Given the description of an element on the screen output the (x, y) to click on. 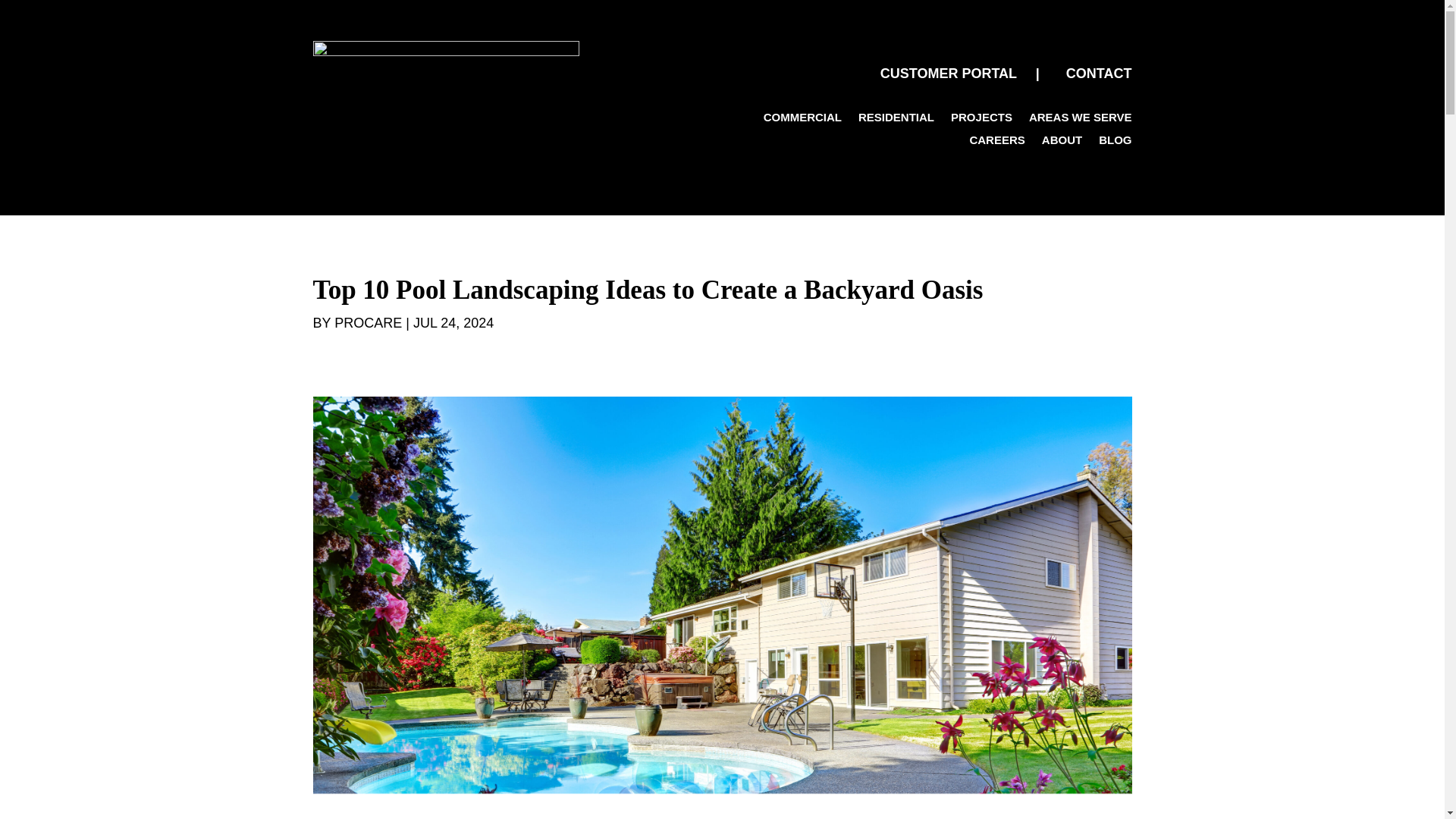
BLOG (1115, 143)
COMMERCIAL (801, 120)
ABOUT (1061, 143)
AREAS WE SERVE (1080, 120)
PROCARE (367, 322)
PROJECTS (980, 120)
CAREERS (997, 143)
Posts by Procare (367, 322)
RESIDENTIAL (896, 120)
Group 272 (445, 68)
